Given the description of an element on the screen output the (x, y) to click on. 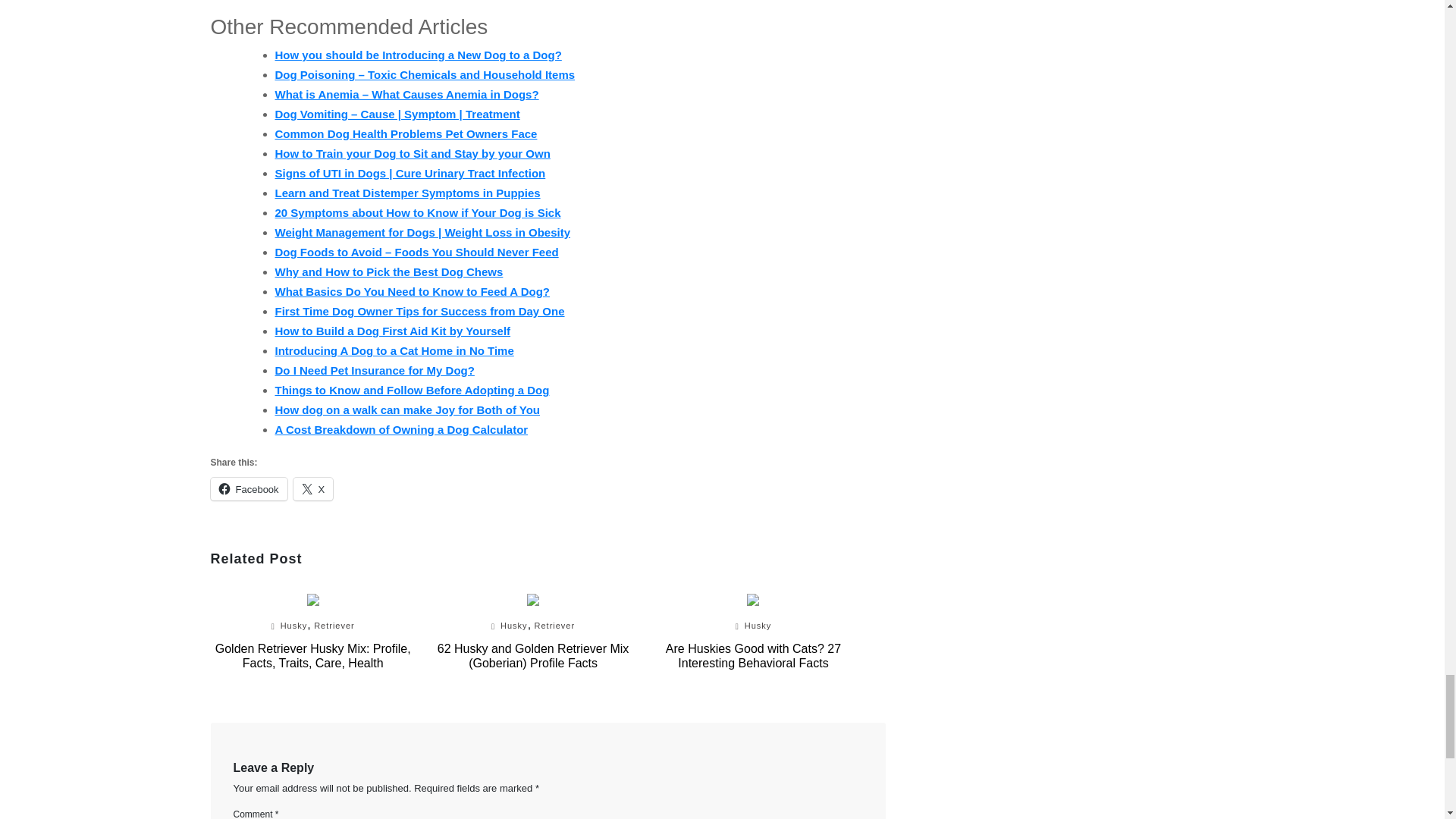
20 Symptoms about How to Know if Your Dog is Sick (417, 212)
What Basics Do You Need to Know to Feed A Dog? (412, 291)
Facebook (248, 488)
Why and How to Pick the Best Dog Chews (388, 271)
Things to Know and Follow Before Adopting a Dog (411, 390)
How you should be Introducing a New Dog to a Dog? (417, 54)
Learn and Treat Distemper Symptoms in Puppies (407, 192)
How to Build a Dog First Aid Kit by Yourself (393, 330)
How to Train your Dog to Sit and Stay by your Own (412, 153)
Click to share on X (313, 488)
Do I Need Pet Insurance for My Dog? (374, 369)
Click to share on Facebook (248, 488)
X (313, 488)
Common Dog Health Problems Pet Owners Face (406, 133)
A Cost Breakdown of Owning a Dog Calculator (401, 429)
